Given the description of an element on the screen output the (x, y) to click on. 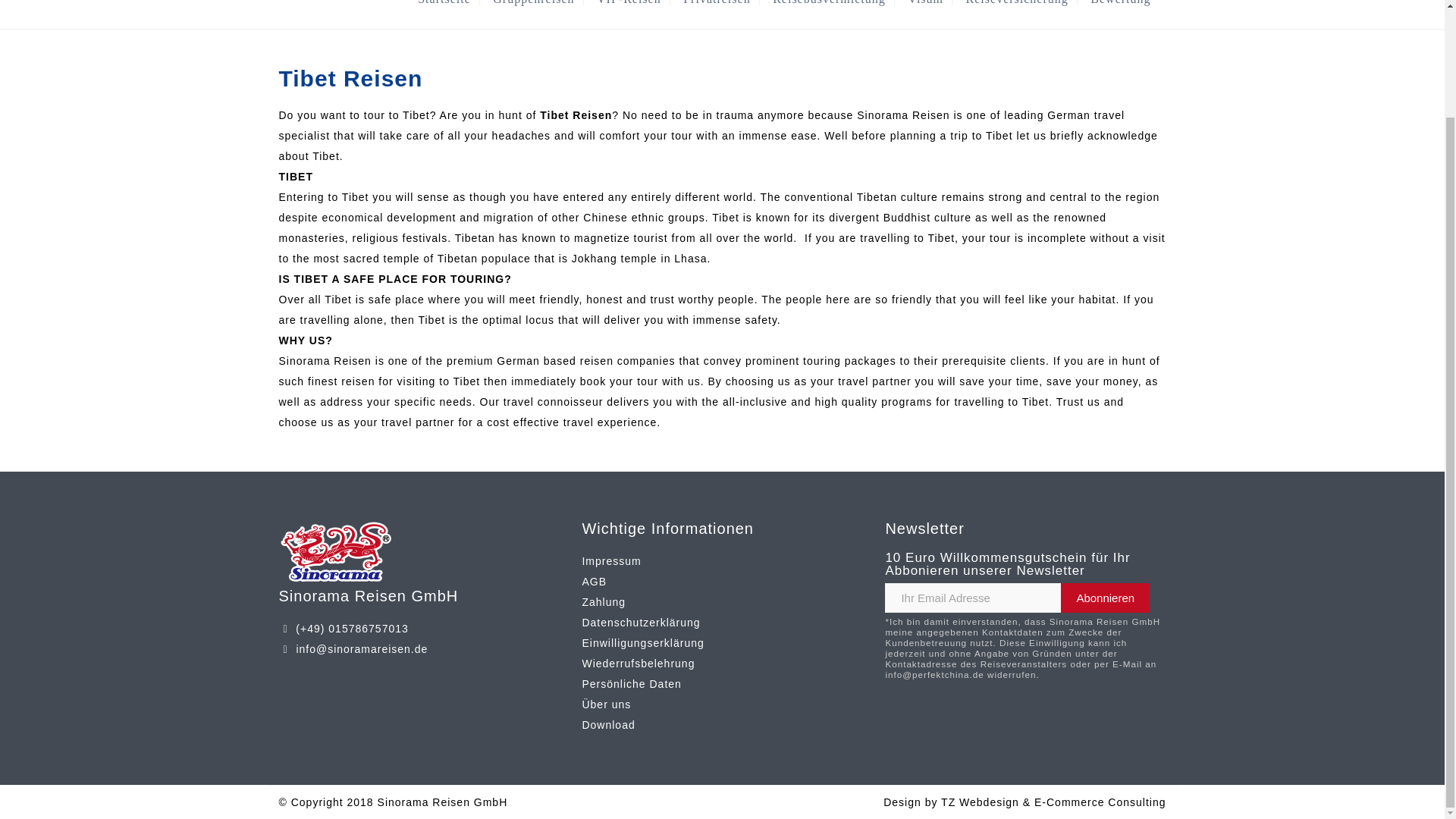
Tibet Reisen (575, 114)
VIP-Reisen (628, 2)
Abonnieren (1105, 597)
Reiseversicherung (1017, 2)
Gruppenreisen (533, 2)
Bewertung (1120, 2)
AGB (593, 581)
Impressum (610, 561)
Visum (925, 2)
Wiederrufsbelehrung (637, 663)
Startseite (443, 2)
Privatreisen (715, 2)
Zahlung (603, 602)
Reisebusvermietung (829, 2)
